Given the description of an element on the screen output the (x, y) to click on. 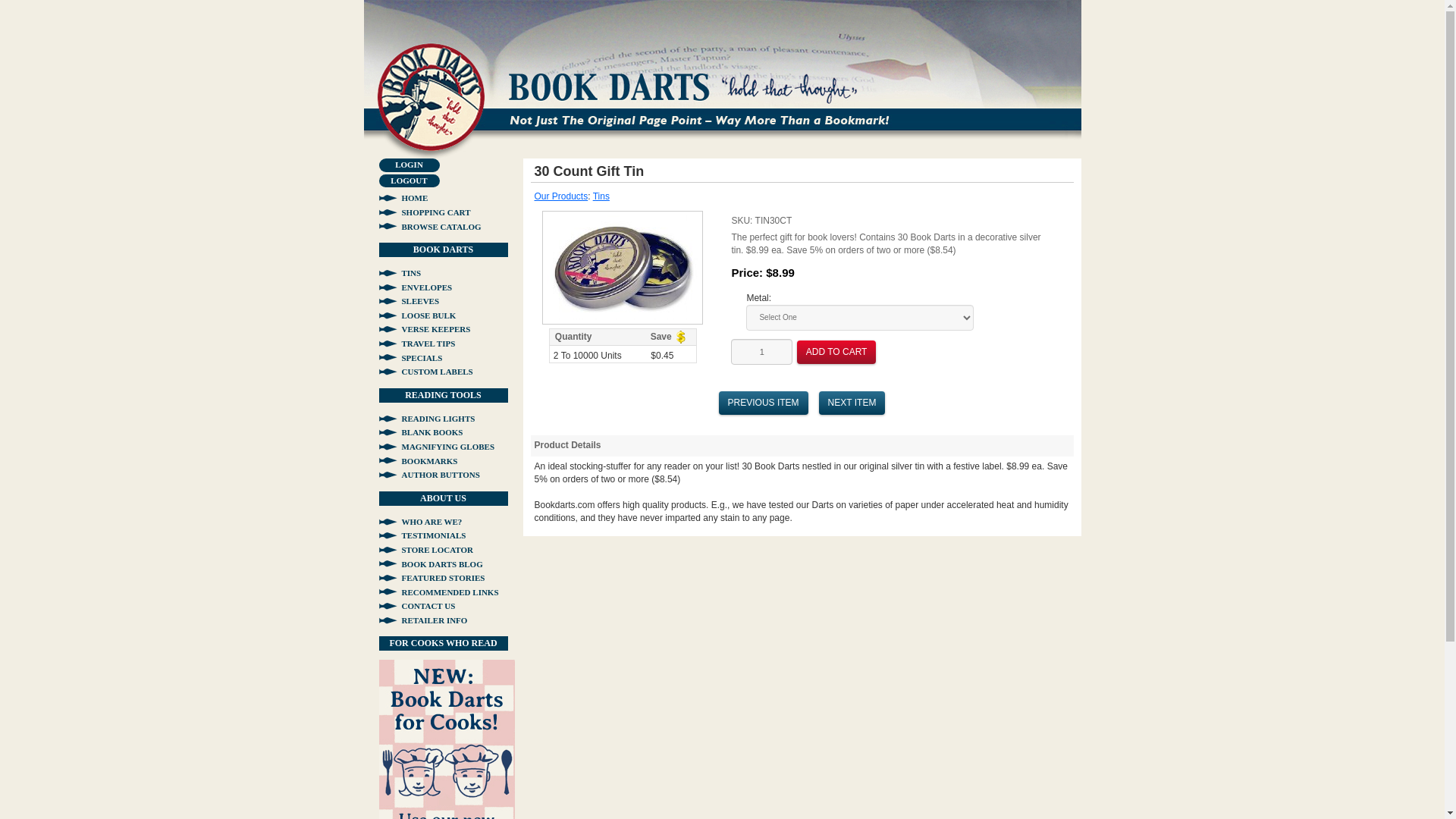
AUTHOR BUTTONS (429, 474)
WHO ARE WE? (420, 521)
READING LIGHTS (427, 418)
Tins (601, 195)
1 (761, 351)
TINS (400, 272)
CONTACT US (416, 605)
CUSTOM LABELS (425, 370)
SHOPPING CART (424, 212)
VERSE KEEPERS (424, 328)
TRAVEL TIPS (416, 343)
TESTIMONIALS (421, 534)
LOGOUT (408, 181)
RECOMMENDED LINKS (438, 592)
NEXT ITEM (851, 402)
